Given the description of an element on the screen output the (x, y) to click on. 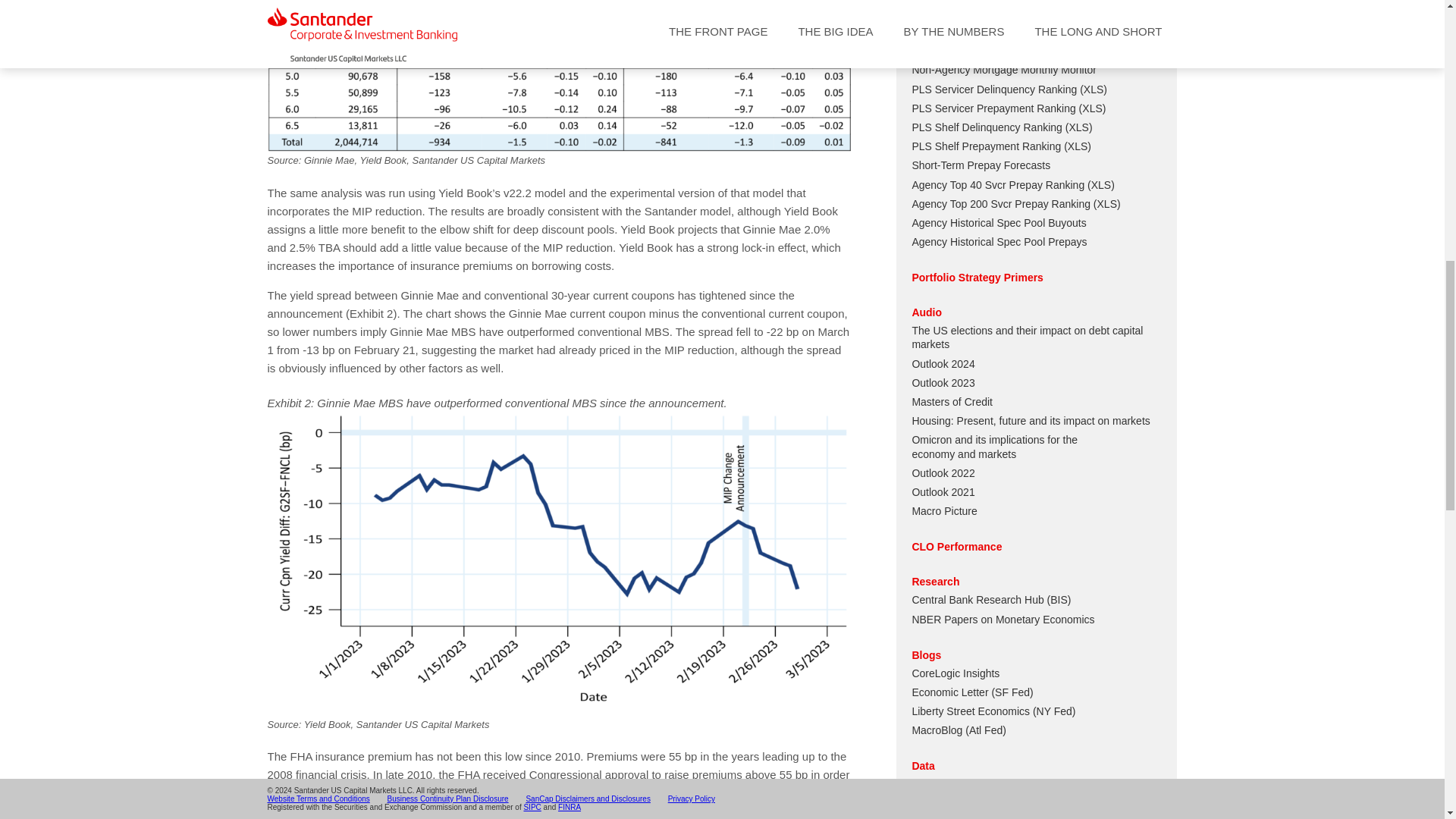
Non-Agency Mortgage Monthly Monitor (1003, 69)
XLS (1077, 127)
Front End Monitor (953, 12)
XLS (1093, 89)
XLS (1077, 146)
Latest Prepay Results (962, 50)
PLS Servicer Delinquency Ranking (994, 89)
PLS Shelf Delinquency Ranking (986, 127)
XLS (1091, 108)
Short-Term Prepay Forecasts (980, 164)
Ginnie Mae Project Loan Prepays (990, 31)
PLS Shelf Prepayment Ranking (986, 146)
PLS Servicer Prepayment Ranking (993, 108)
